Given the description of an element on the screen output the (x, y) to click on. 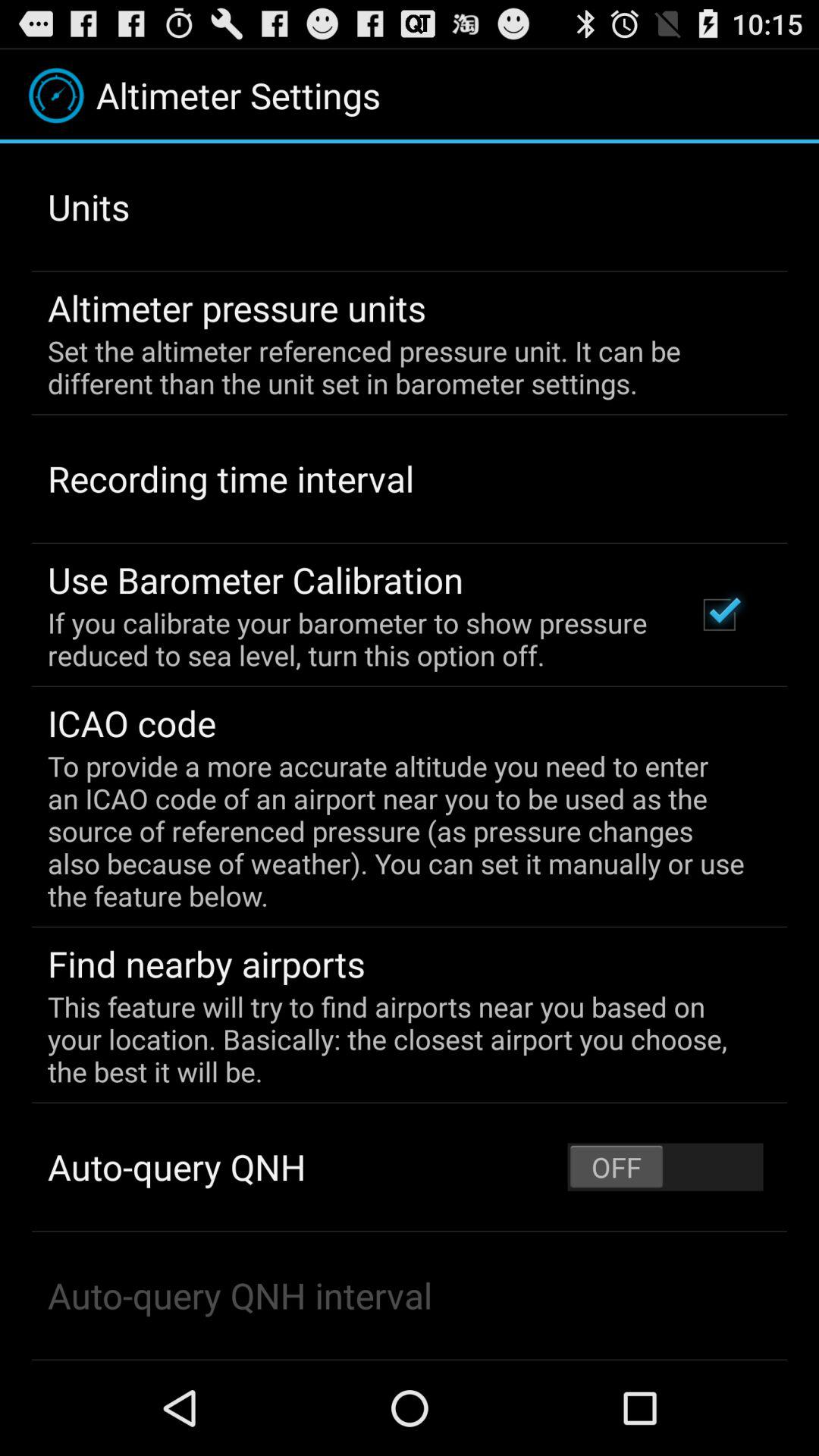
swipe until use barometer calibration (255, 579)
